Given the description of an element on the screen output the (x, y) to click on. 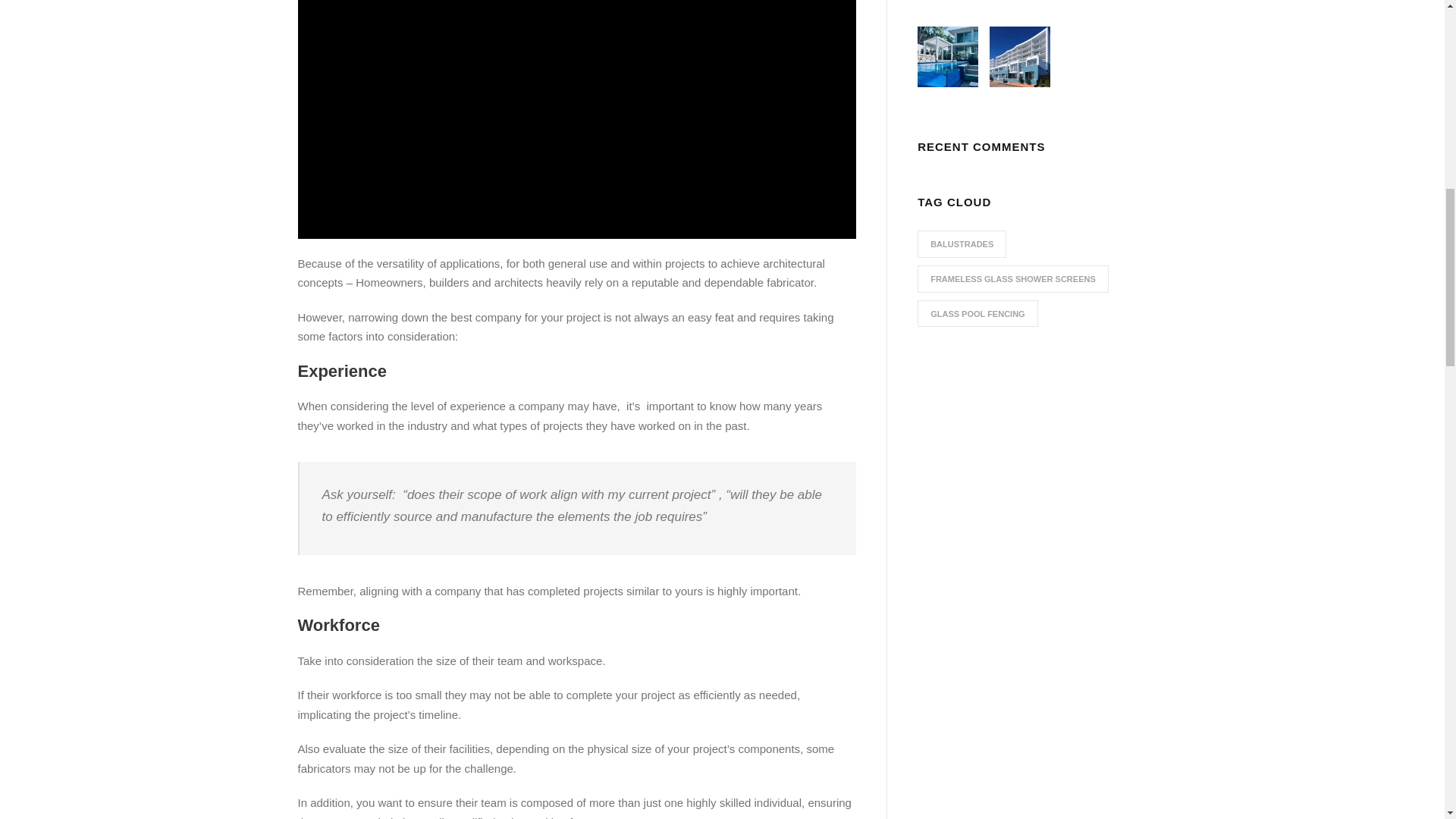
residential-fabrication-cabana-house (947, 56)
The-Lume-Newcastle (1019, 56)
